Given the description of an element on the screen output the (x, y) to click on. 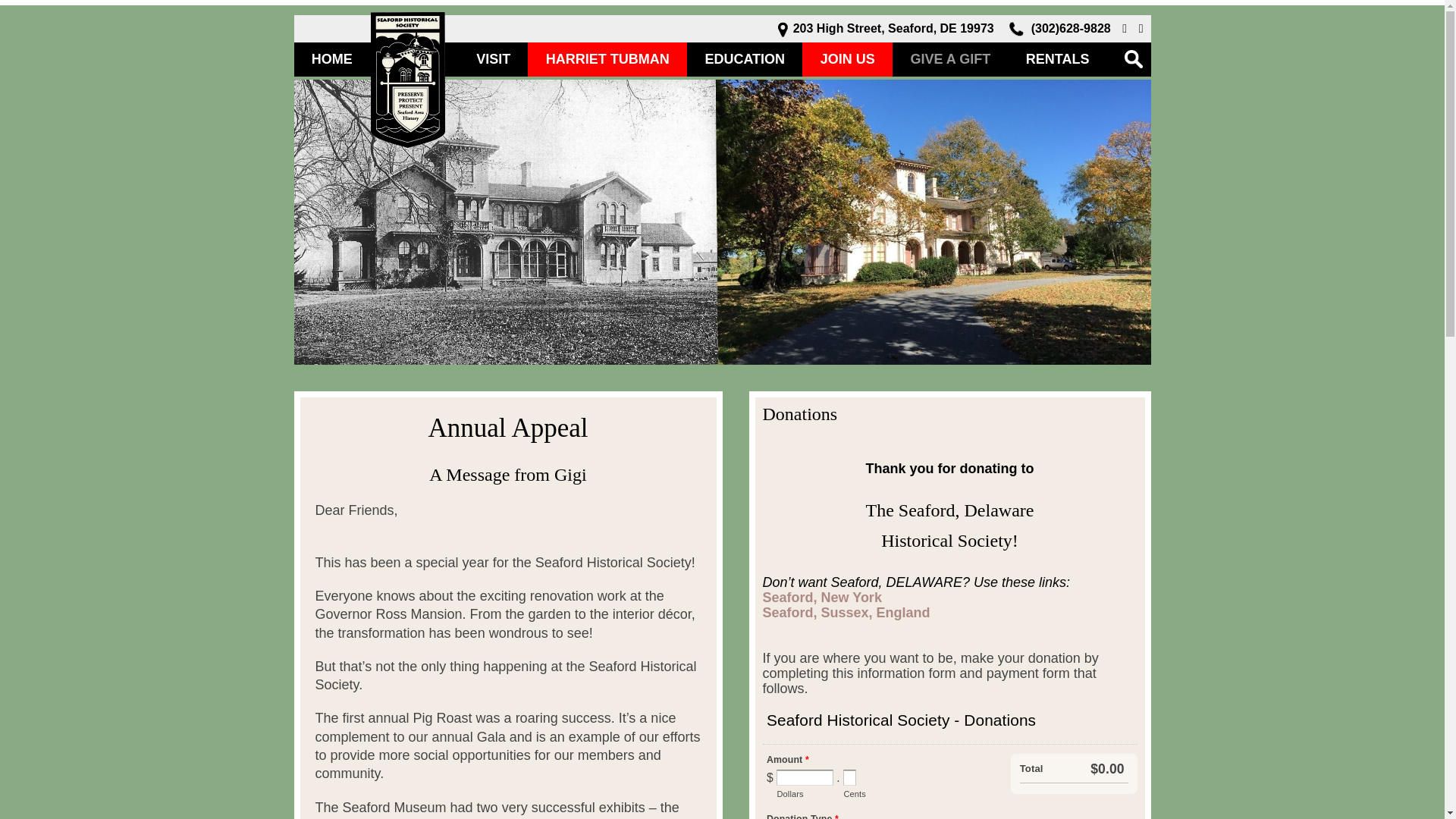
RENTALS (1056, 59)
Search (21, 7)
Seaford, Sussex, England (846, 612)
EDUCATION (744, 59)
HARRIET TUBMAN (607, 59)
HOME (332, 59)
203 High Street, Seaford, DE 19973  (886, 28)
JOIN US (847, 59)
VISIT (493, 59)
GIVE A GIFT (949, 59)
Seaford, New York (822, 597)
